Given the description of an element on the screen output the (x, y) to click on. 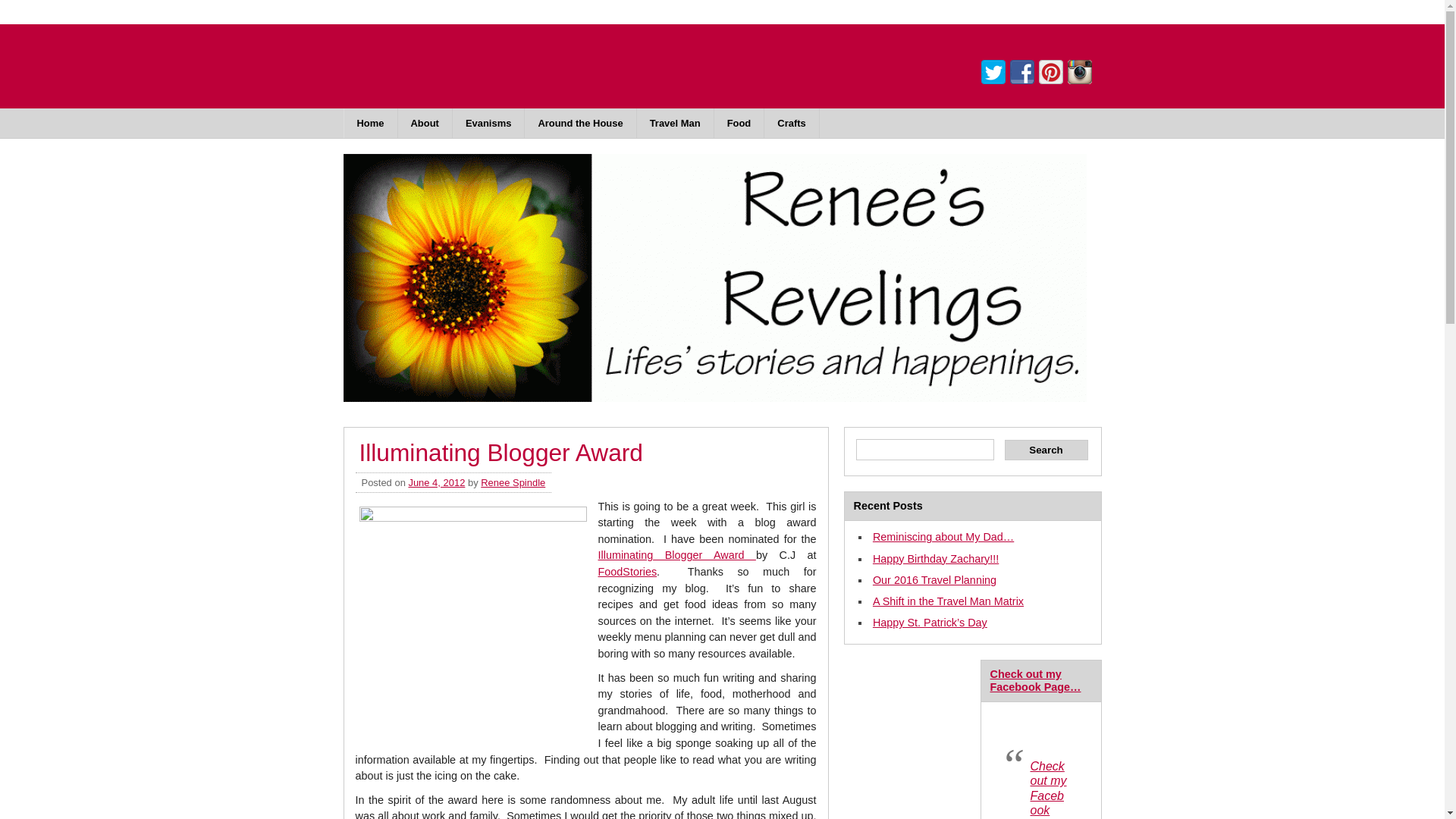
About (424, 123)
Travel Man (675, 123)
Renee Spindle (512, 482)
Illuminating Blogger Award (675, 554)
Home (370, 123)
Food (739, 123)
Search (1045, 449)
Crafts (791, 123)
June 4, 2012 (435, 482)
light bulb concept (472, 619)
